Given the description of an element on the screen output the (x, y) to click on. 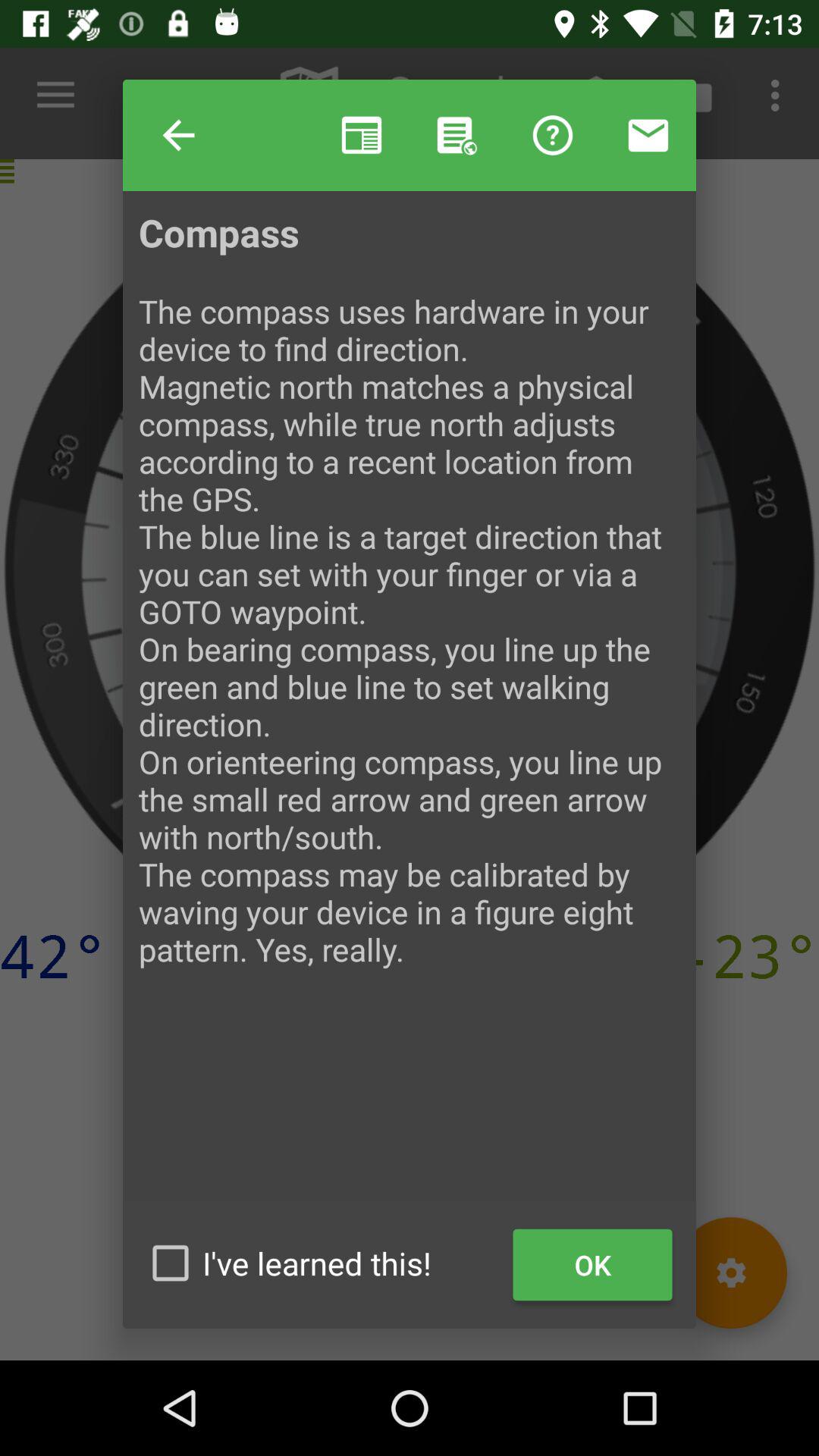
click the compass the compass at the center (409, 704)
